Given the description of an element on the screen output the (x, y) to click on. 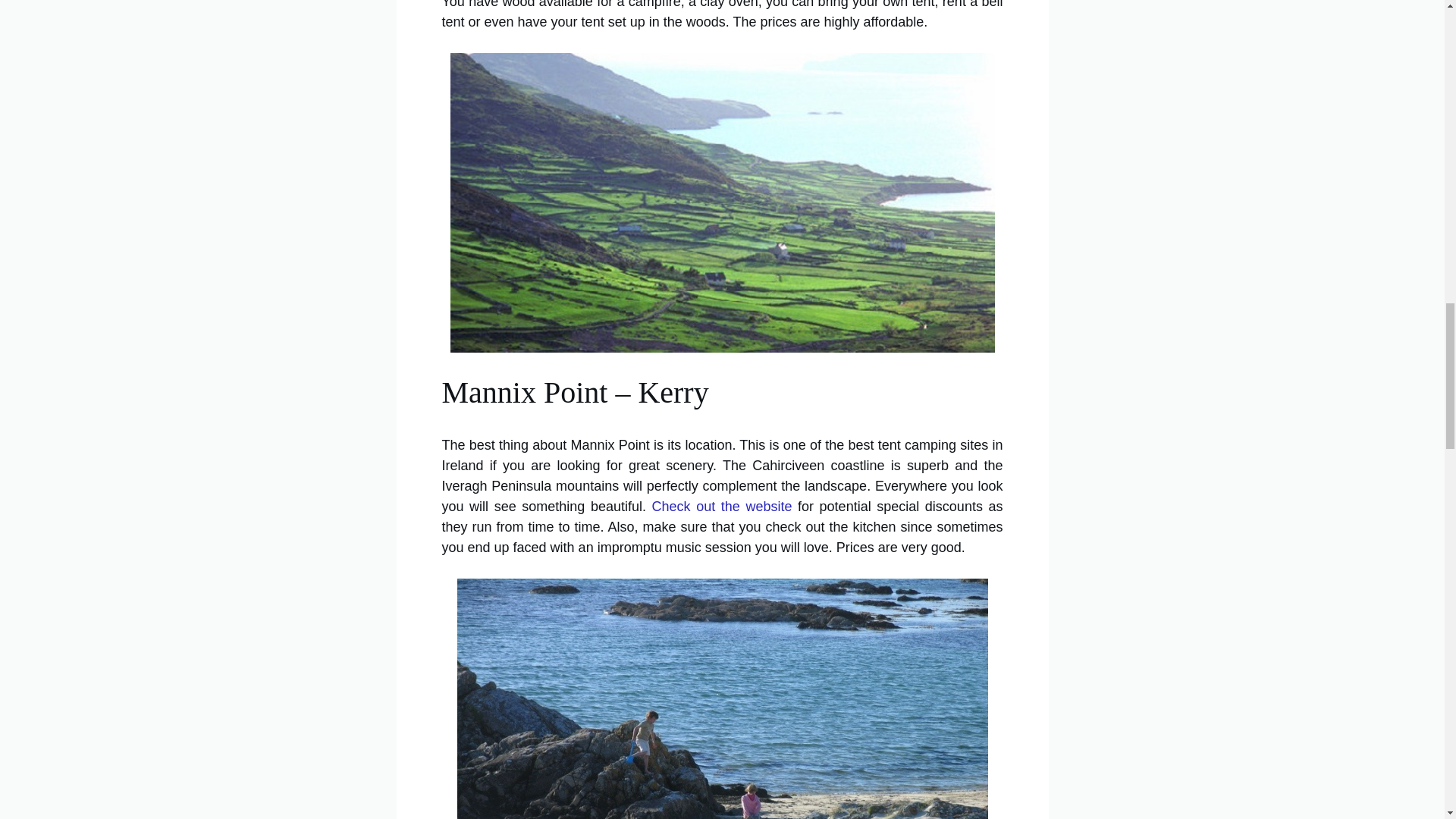
Check out the website (722, 506)
